Given the description of an element on the screen output the (x, y) to click on. 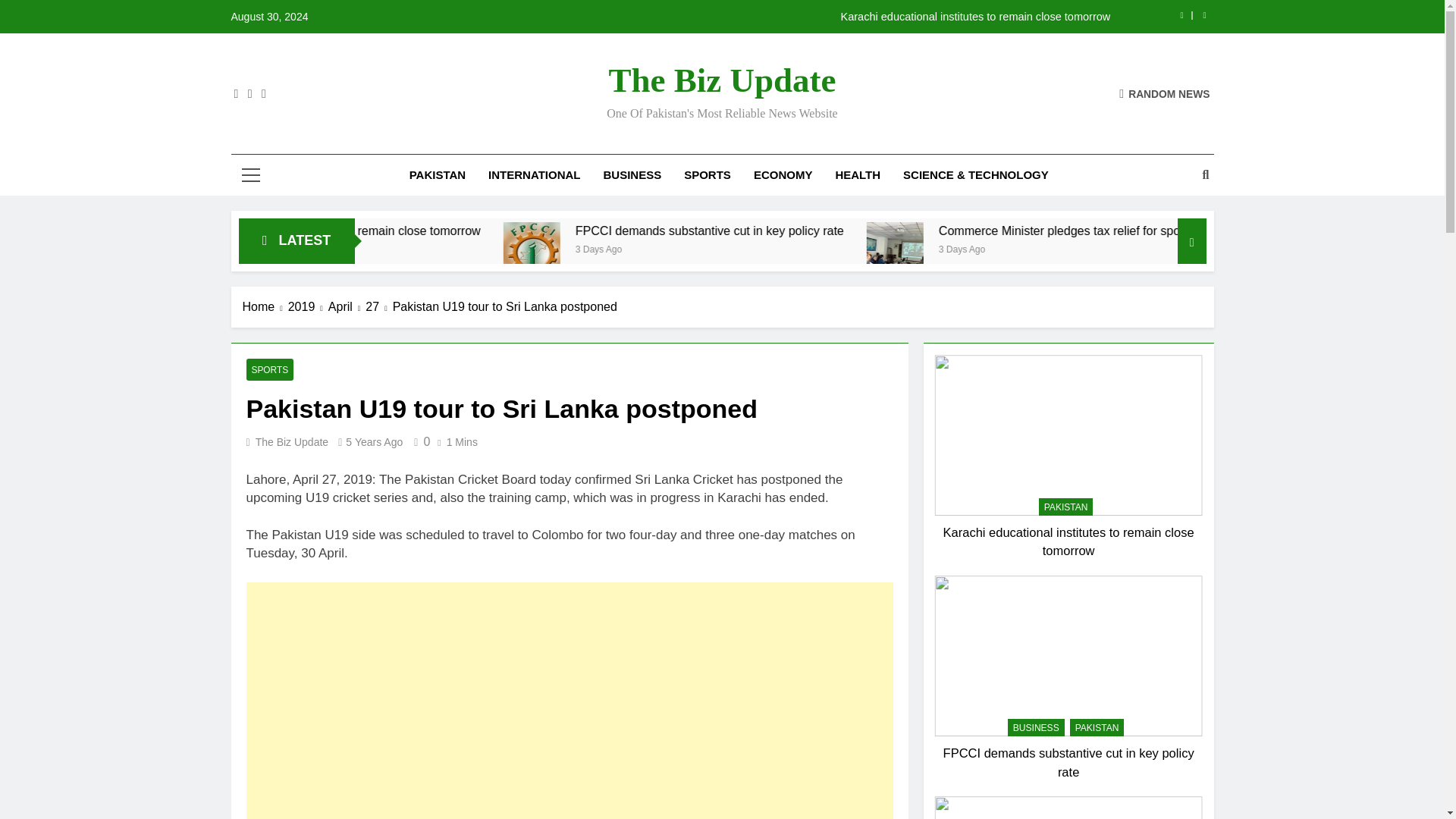
Karachi educational institutes to remain close tomorrow (538, 230)
8 Hours Ago (412, 247)
RANDOM NEWS (1164, 92)
Karachi educational institutes to remain close tomorrow (817, 16)
FPCCI demands substantive cut in key policy rate (687, 250)
ECONOMY (783, 174)
PAKISTAN (437, 174)
Karachi educational institutes to remain close tomorrow (489, 230)
FPCCI demands substantive cut in key policy rate (910, 230)
BUSINESS (631, 174)
